Given the description of an element on the screen output the (x, y) to click on. 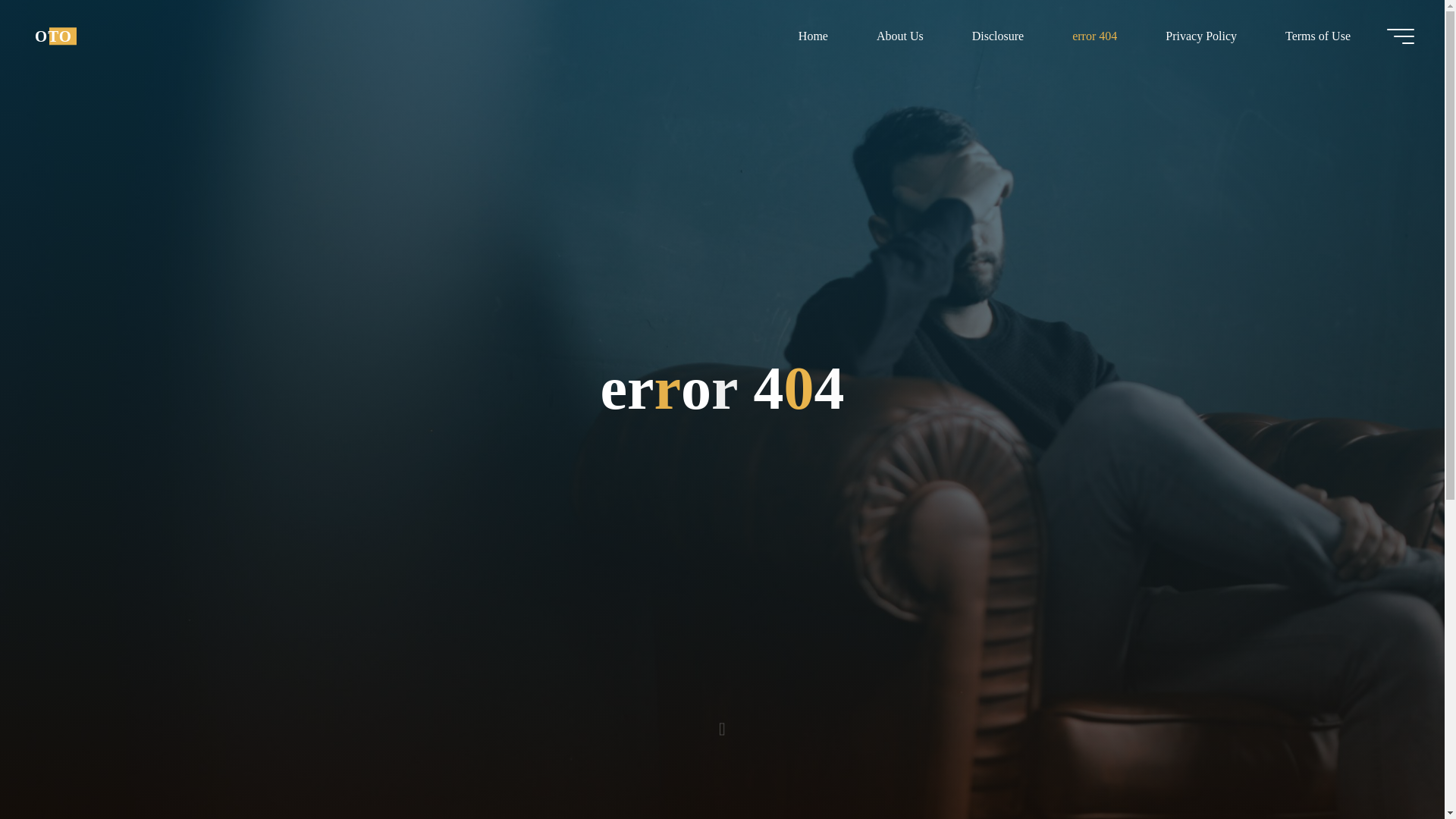
Privacy Policy (1200, 35)
error 404 (1094, 35)
Read more (721, 724)
About Us (899, 35)
OTO (53, 36)
Home (812, 35)
Disclosure (997, 35)
Terms of Use (1317, 35)
